Given the description of an element on the screen output the (x, y) to click on. 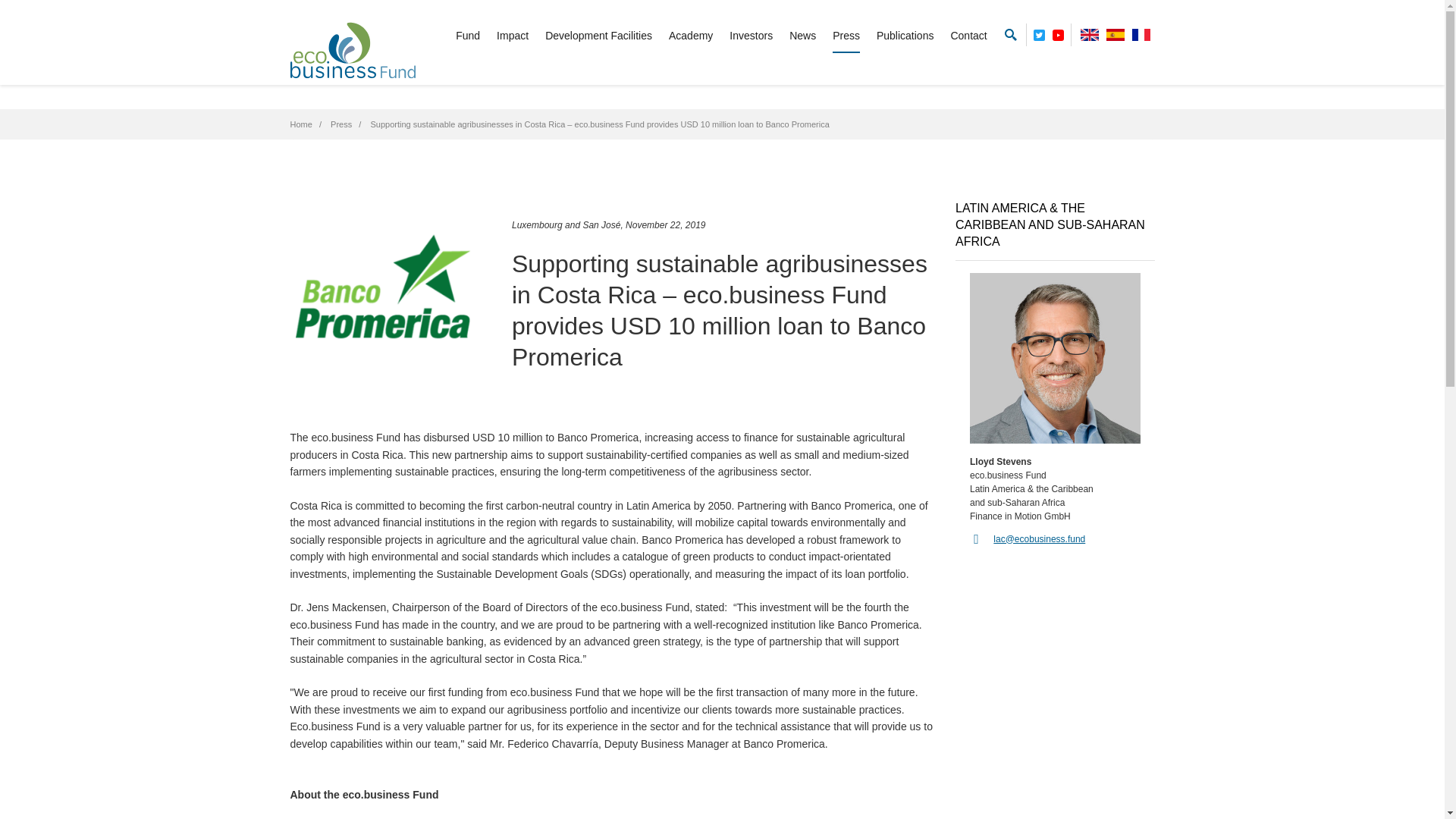
French (1141, 34)
Contact (968, 36)
Twitter (1038, 31)
eco.business Fund (351, 50)
Publications (905, 36)
Press (341, 123)
Home (300, 123)
Development Facilities (598, 36)
Spanish (1115, 34)
EN (1089, 34)
Home (300, 123)
Development Facilities (598, 36)
Lloyd Stevens (1054, 357)
Press (341, 123)
Contact (968, 36)
